Given the description of an element on the screen output the (x, y) to click on. 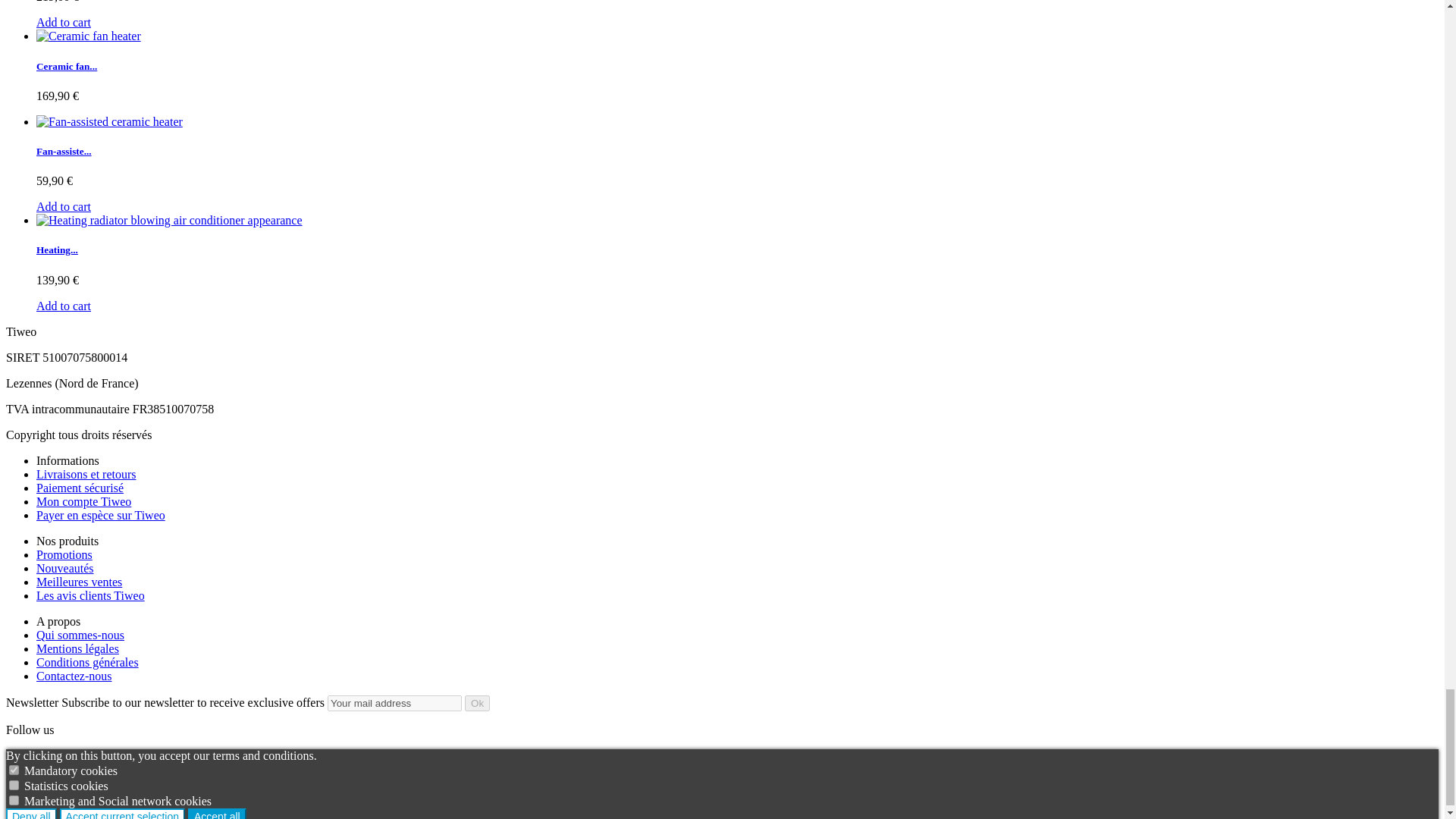
on (13, 769)
Ok (476, 703)
Your mail address (394, 703)
on (13, 800)
on (13, 785)
